Given the description of an element on the screen output the (x, y) to click on. 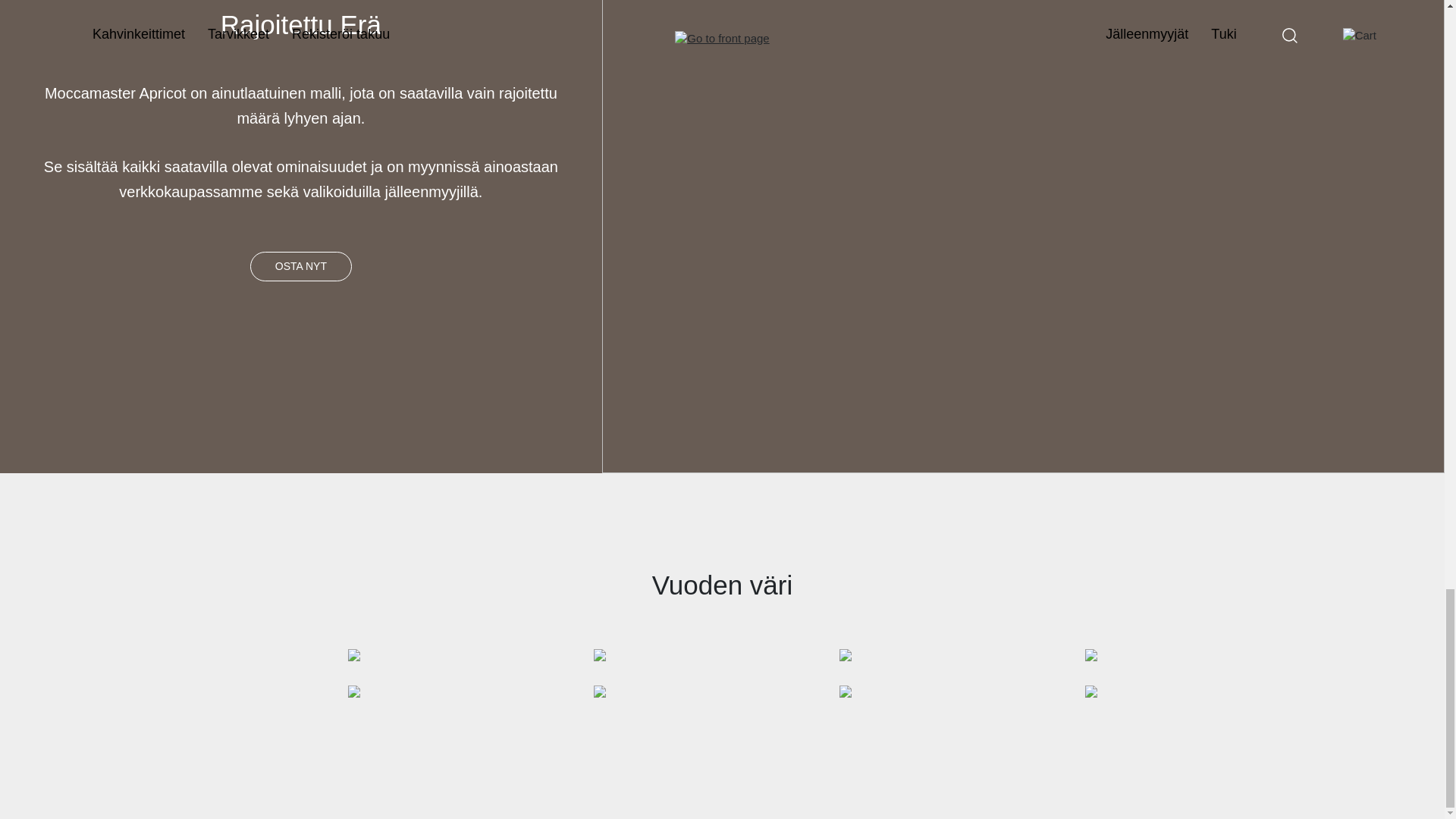
OSTA NYT (301, 266)
